Given the description of an element on the screen output the (x, y) to click on. 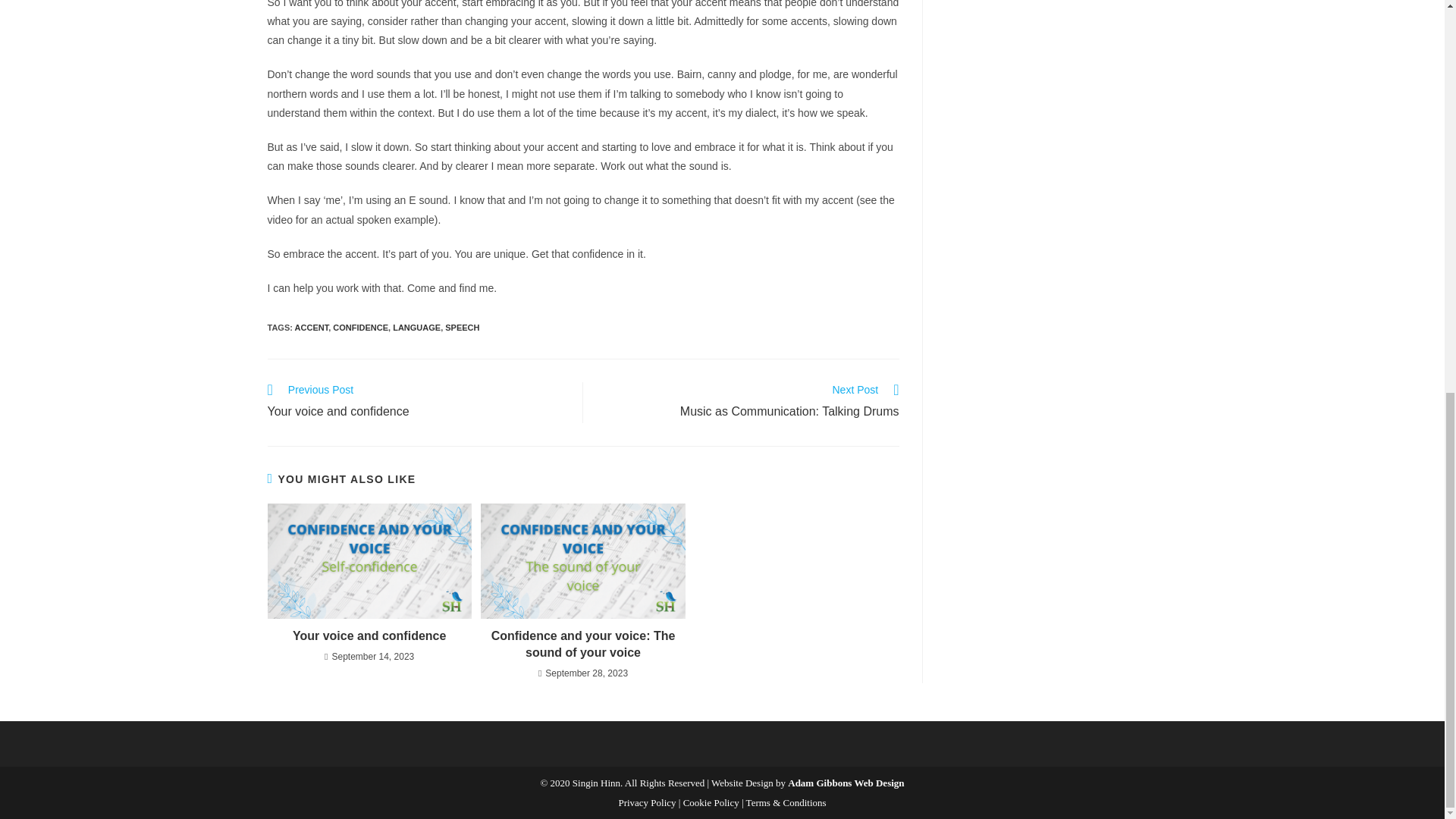
Your voice and confidence (368, 636)
LANGUAGE (748, 402)
SPEECH (417, 327)
ACCENT (416, 402)
CONFIDENCE (462, 327)
Confidence and your voice: The sound of your voice (312, 327)
